Given the description of an element on the screen output the (x, y) to click on. 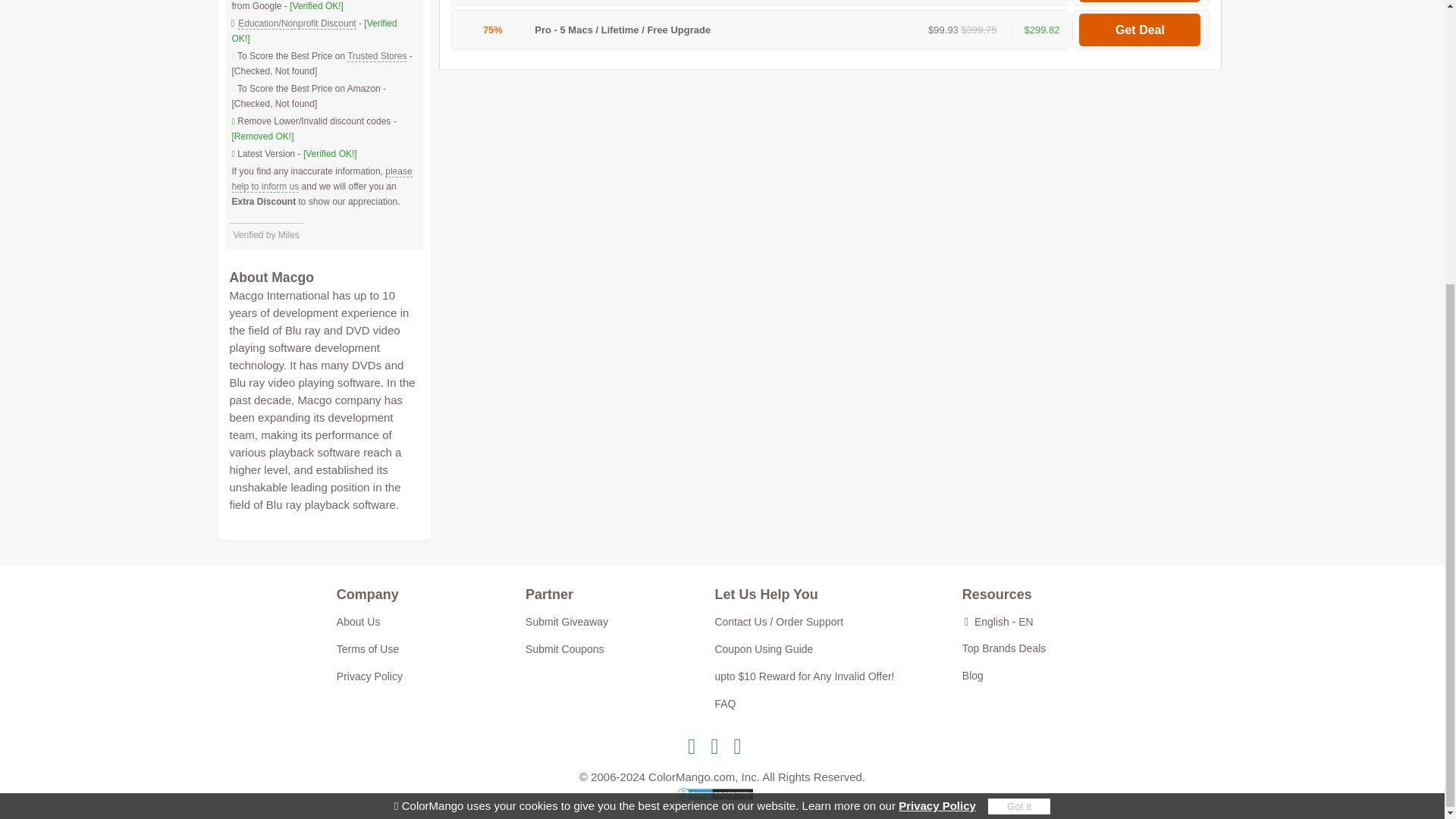
Privacy Policy (936, 377)
Got it (1018, 378)
DMCA.com Protection Status (722, 796)
